Given the description of an element on the screen output the (x, y) to click on. 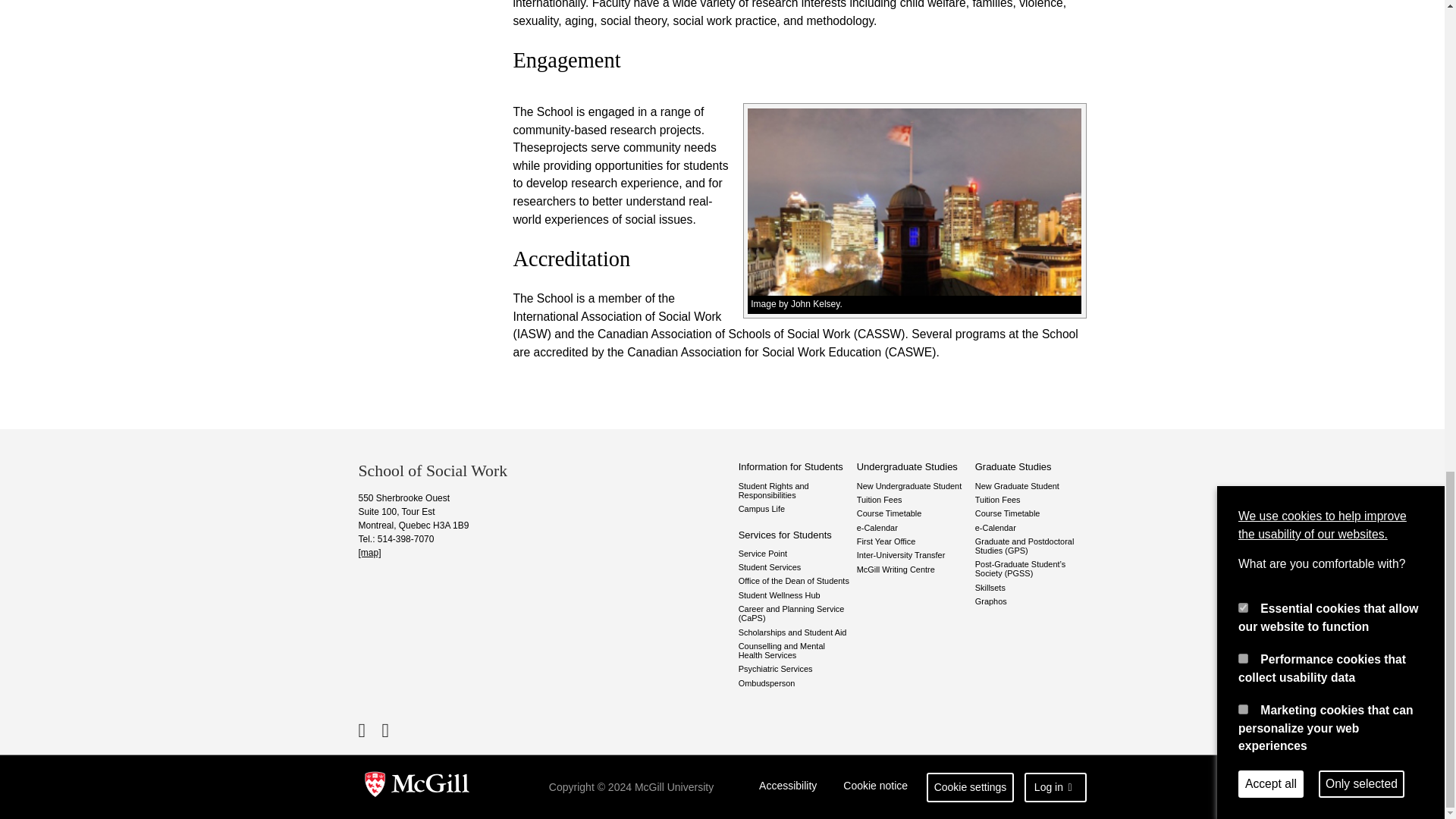
Services for Students (794, 534)
Office of the Dean of Students (794, 580)
Campus Life (794, 508)
Information for Students (794, 466)
Student Services (794, 566)
Image by John Kelsey. (914, 304)
Service Point (794, 552)
Student Rights and Responsibilities (794, 490)
